Given the description of an element on the screen output the (x, y) to click on. 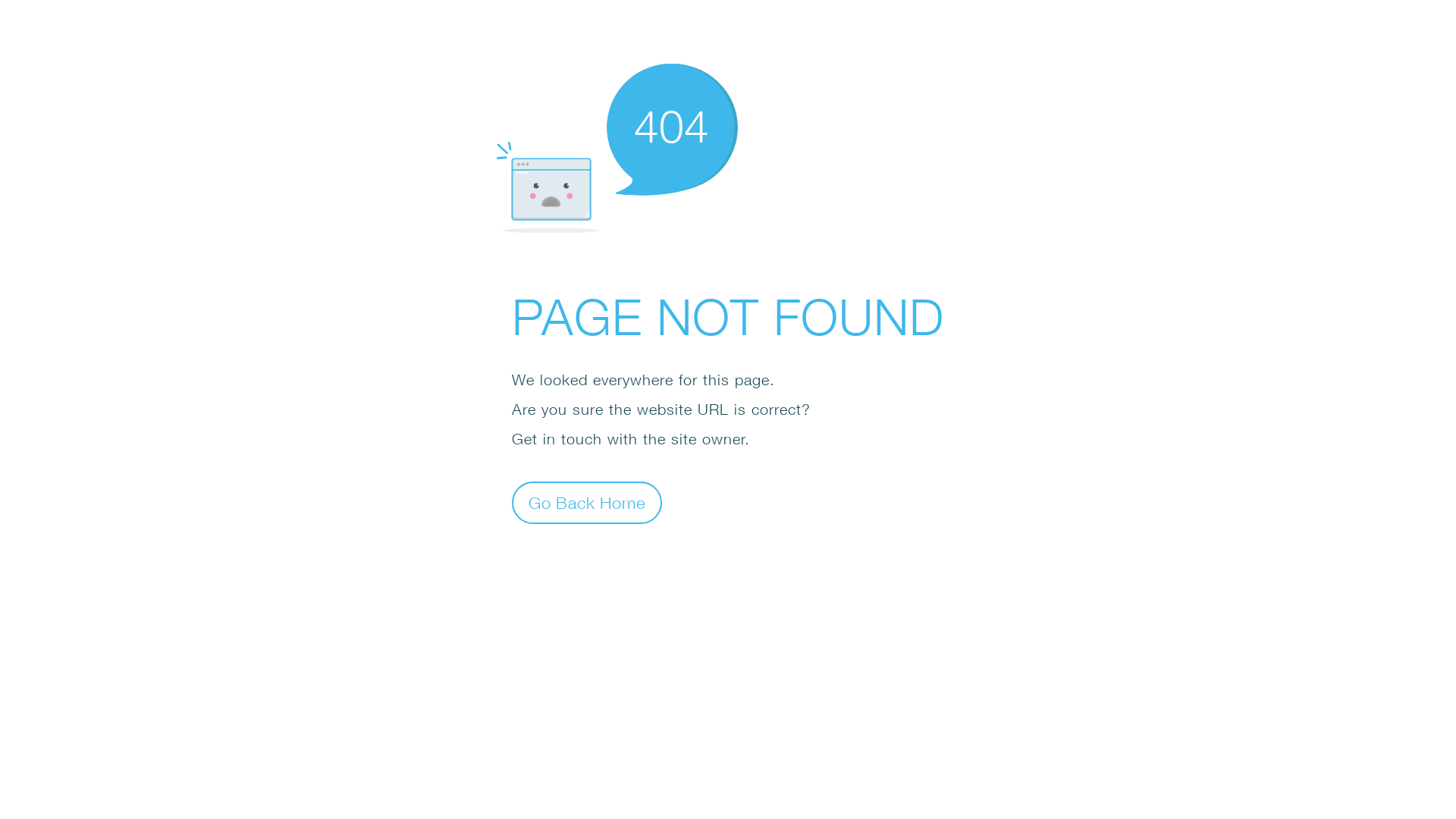
Go Back Home Element type: text (586, 502)
